Given the description of an element on the screen output the (x, y) to click on. 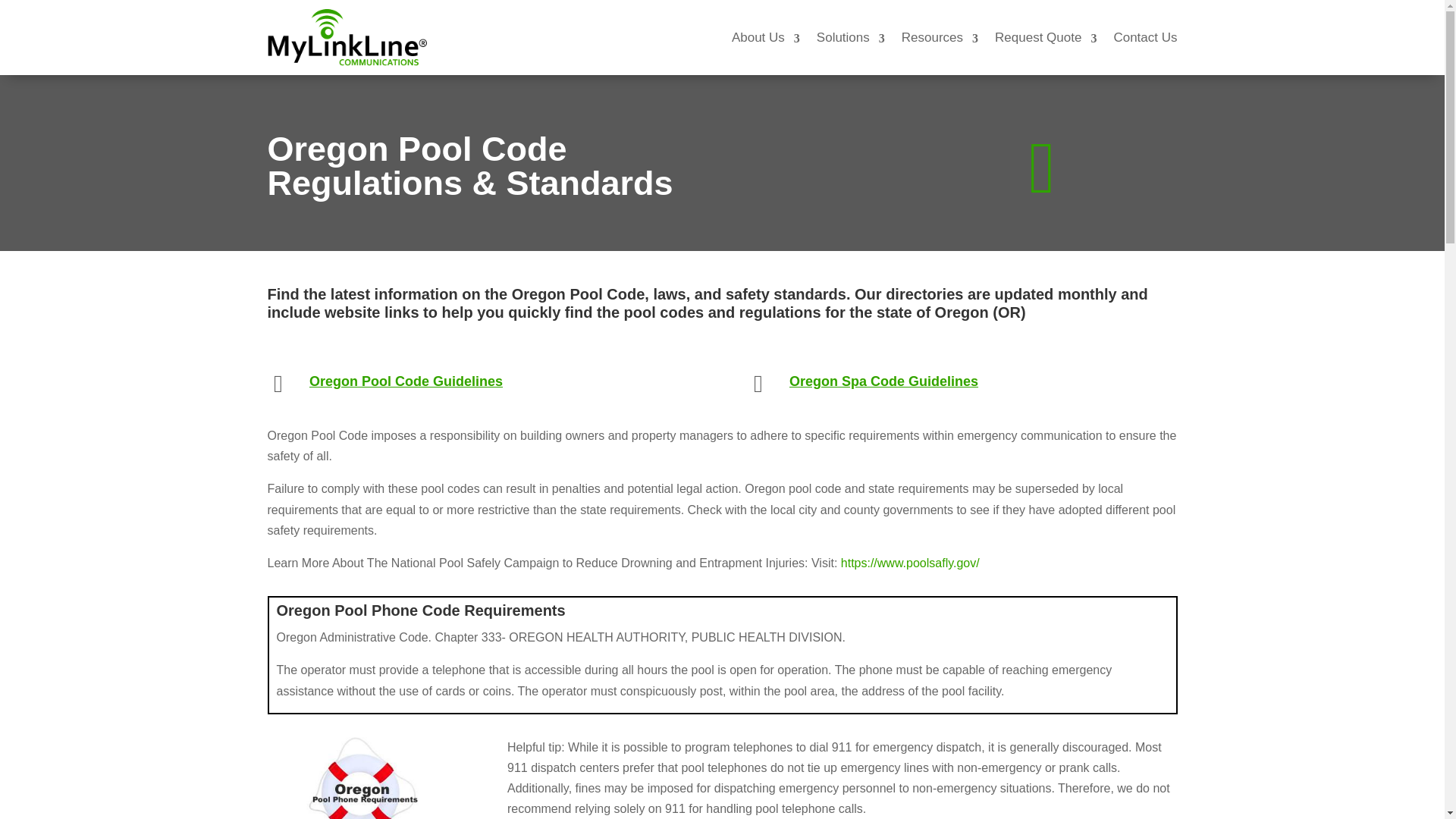
About Us (765, 37)
Solutions (850, 37)
Oregon Pool Phone Requirements (362, 778)
Resources (939, 37)
Request Quote (1045, 37)
Contact Us (1144, 37)
